Given the description of an element on the screen output the (x, y) to click on. 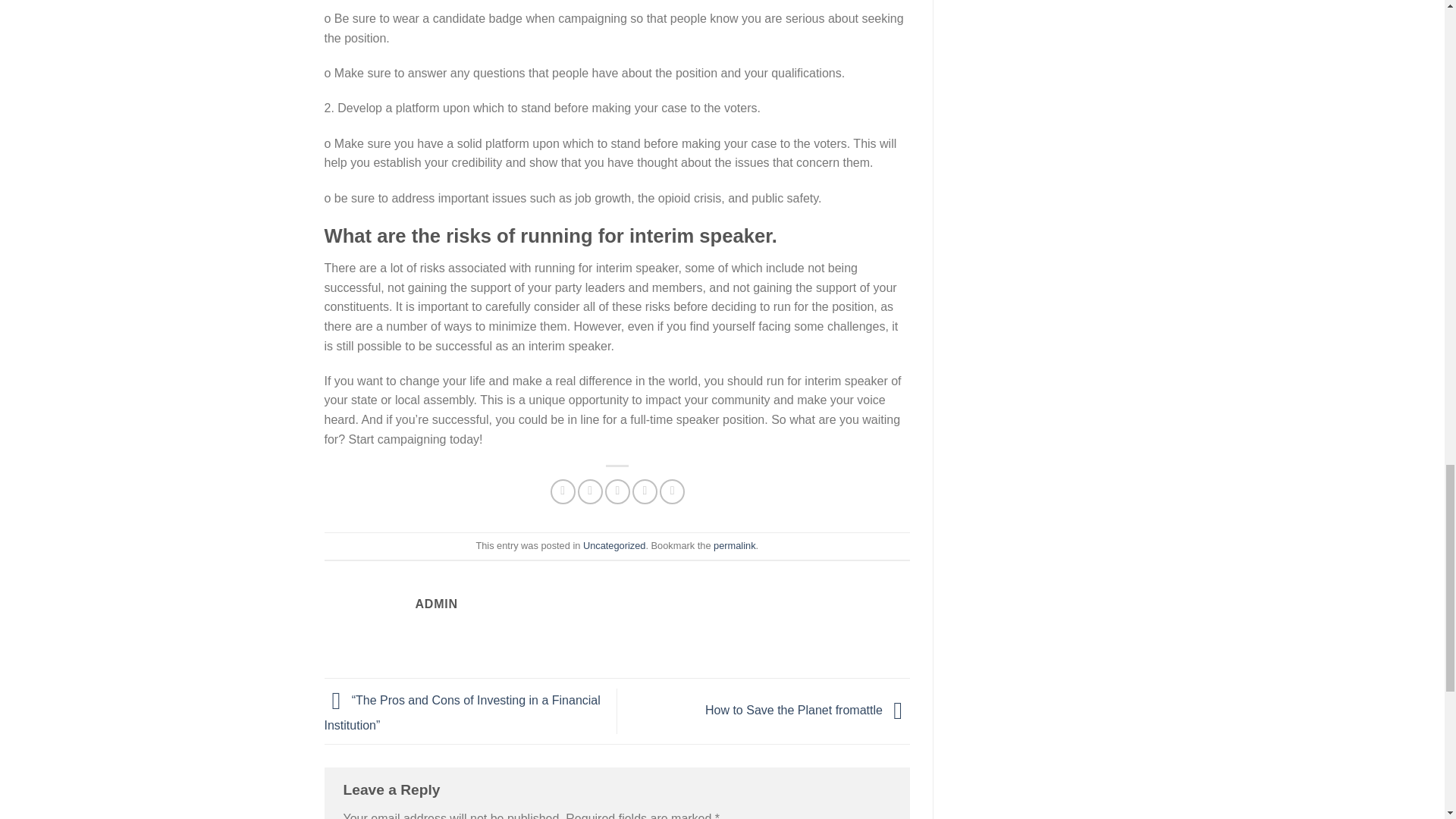
Share on LinkedIn (671, 491)
Pin on Pinterest (644, 491)
How to Save the Planet fromattle (807, 709)
Share on Facebook (562, 491)
permalink (734, 545)
Email to a Friend (617, 491)
Uncategorized (614, 545)
Share on Twitter (590, 491)
